Given the description of an element on the screen output the (x, y) to click on. 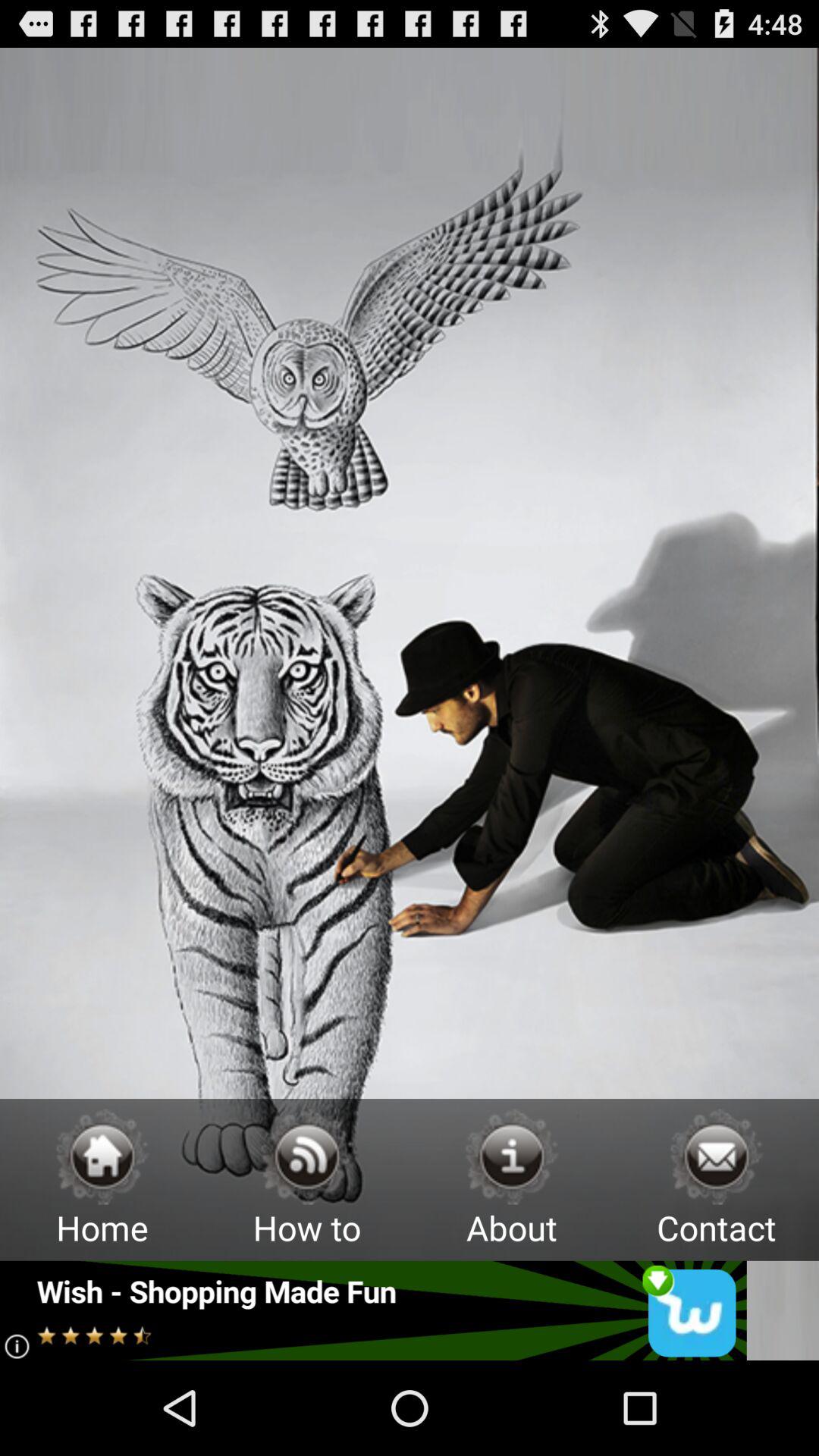
open this advertisement (373, 1310)
